Given the description of an element on the screen output the (x, y) to click on. 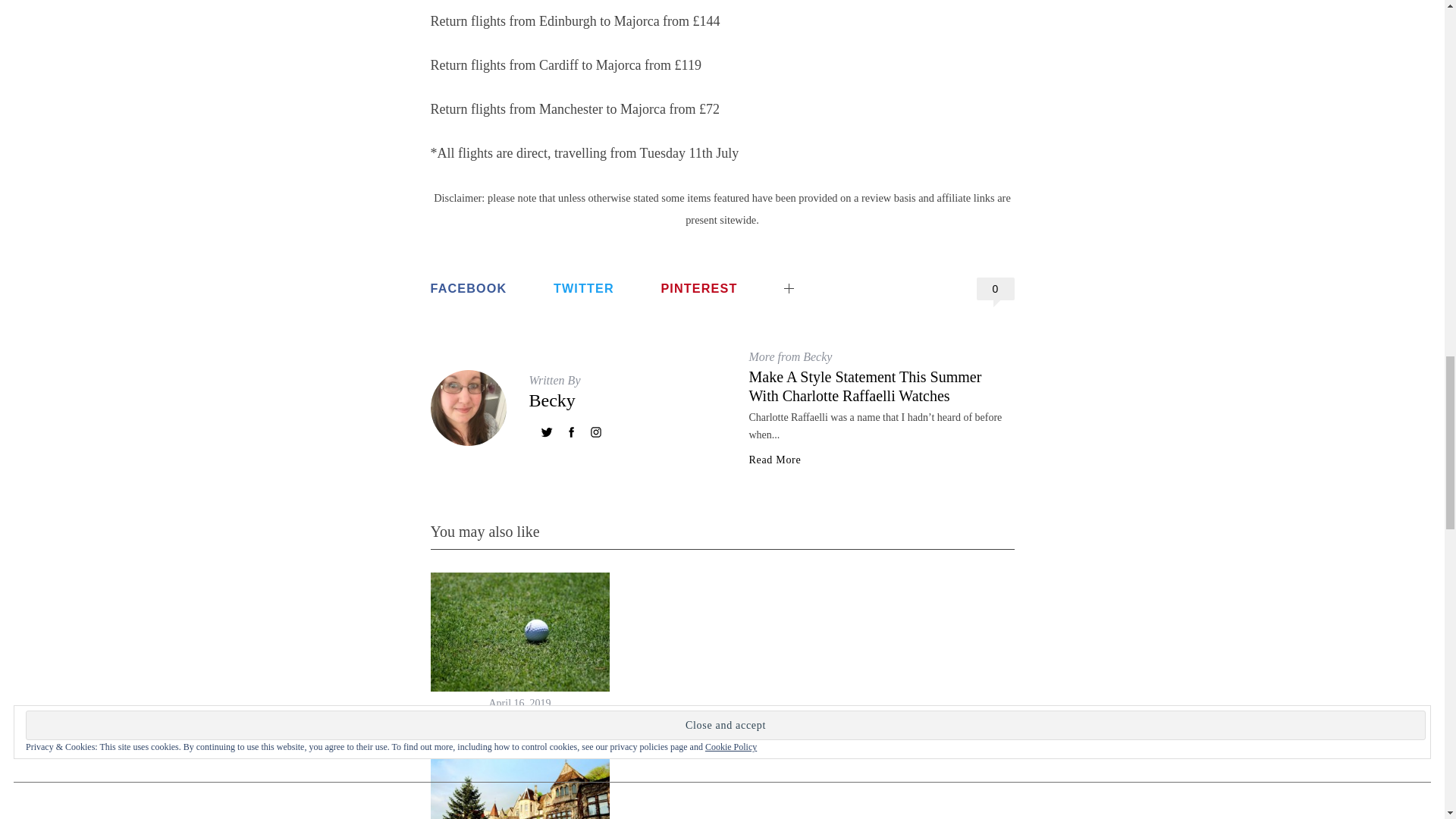
Read More (775, 460)
LINKEDIN (834, 276)
FACEBOOK (468, 288)
0 (995, 288)
The Best Locations To Test Out Your New Golfing Gear (518, 731)
PINTEREST (698, 288)
Becky (552, 400)
TWITTER (583, 288)
